Given the description of an element on the screen output the (x, y) to click on. 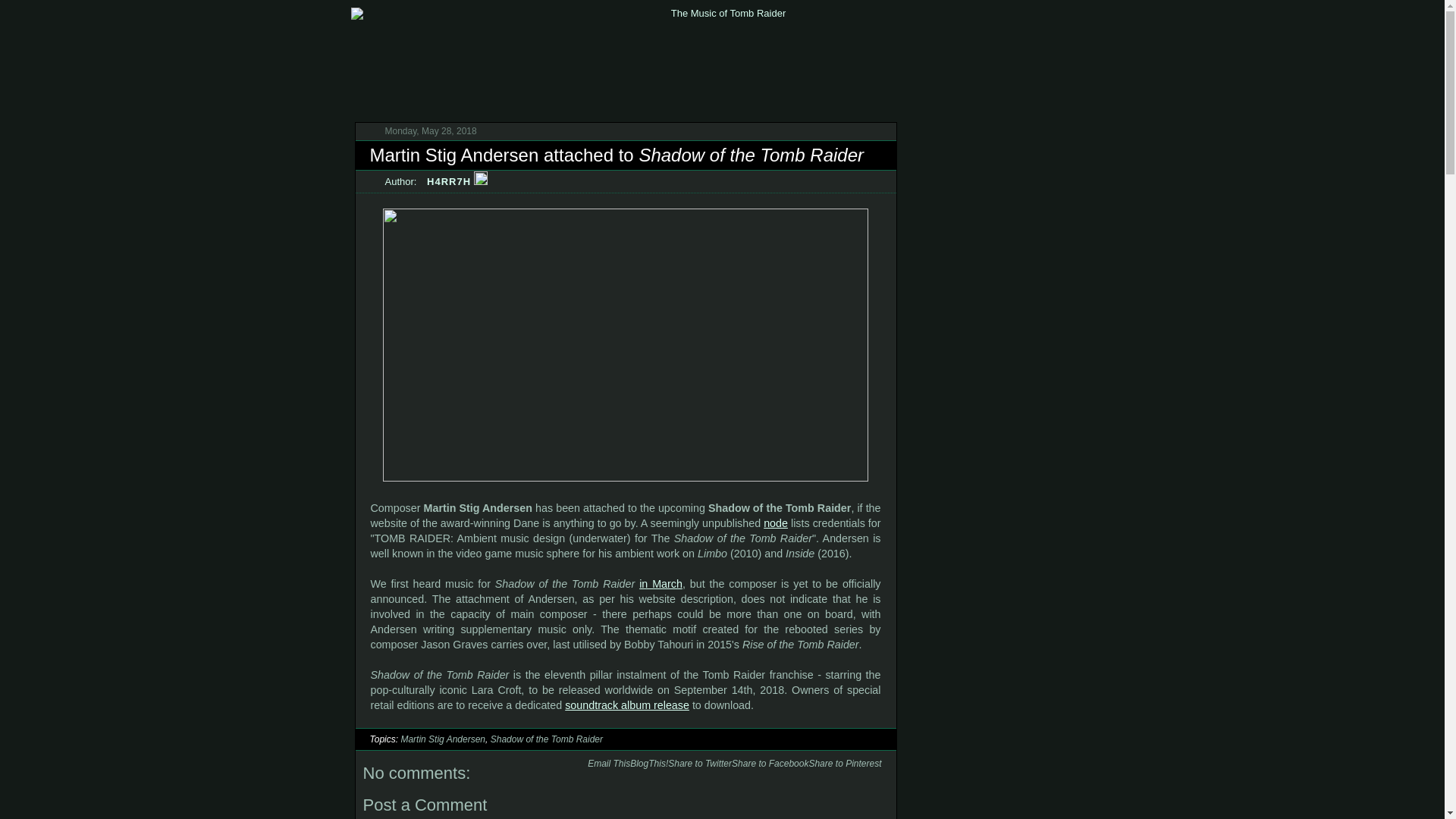
node (774, 522)
BlogThis! (649, 763)
soundtrack album release (626, 705)
Email This (609, 763)
Edit Post (480, 181)
Email This (609, 763)
Share to Facebook (770, 763)
Shadow of the Tomb Raider (546, 738)
in March (660, 583)
Share to Twitter (700, 763)
Share to Pinterest (844, 763)
Martin Stig Andersen (442, 738)
Share to Pinterest (844, 763)
Share to Twitter (700, 763)
Share to Facebook (770, 763)
